Given the description of an element on the screen output the (x, y) to click on. 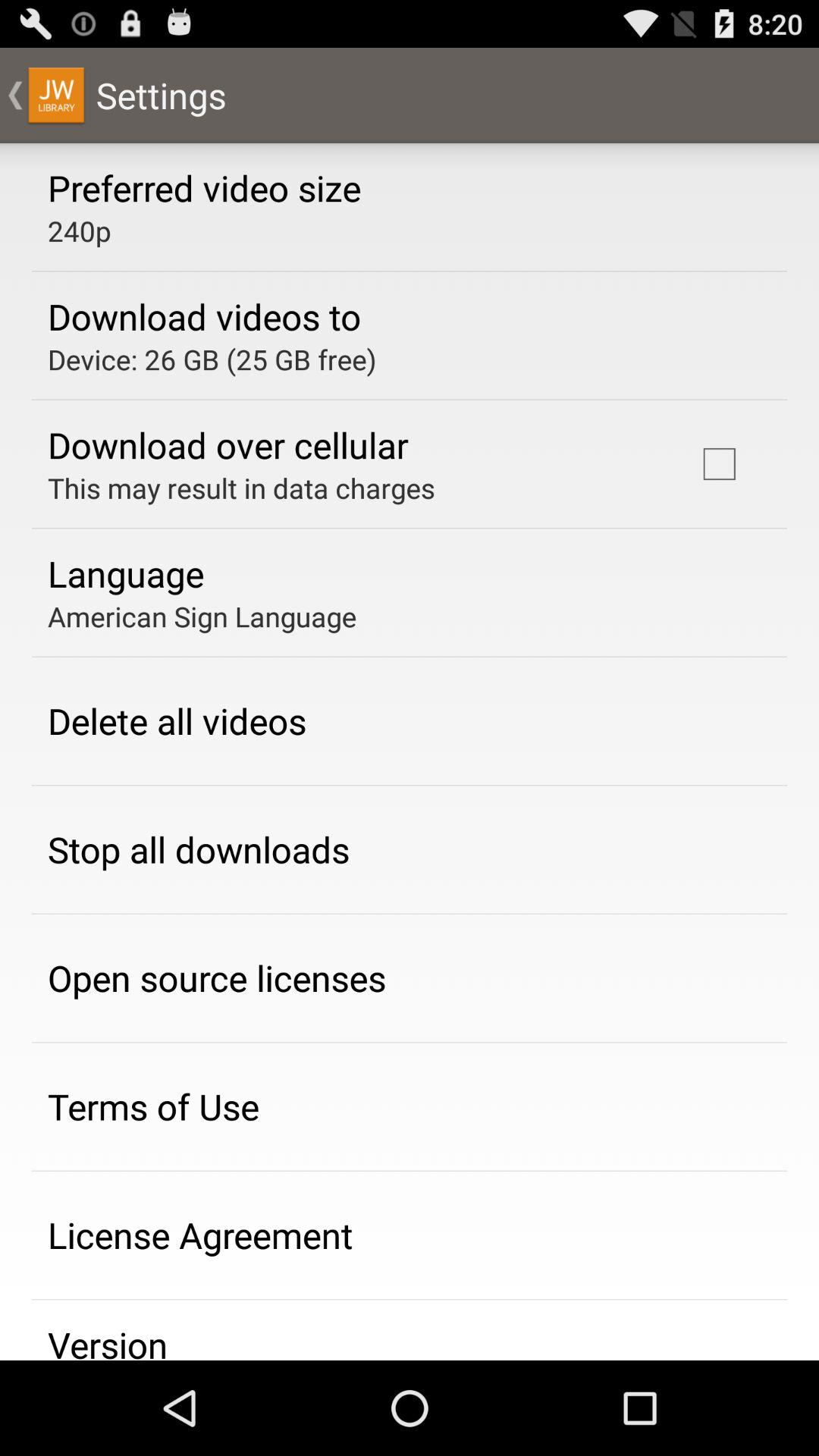
turn off this may result item (241, 487)
